Given the description of an element on the screen output the (x, y) to click on. 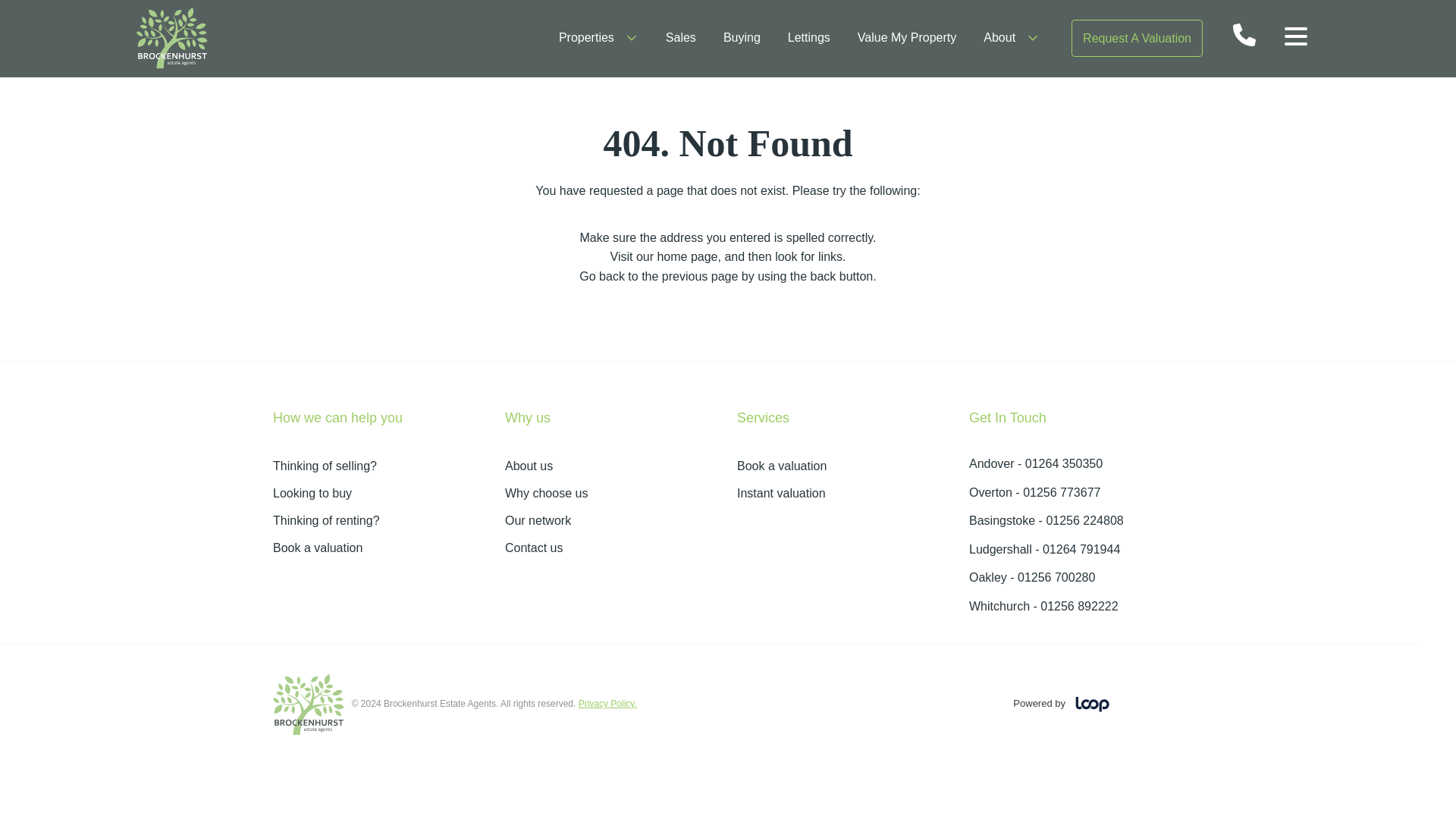
About us (612, 466)
Sales (680, 37)
Instant valuation (843, 493)
Book a valuation (843, 466)
Request A Valuation (1136, 37)
Why choose us (612, 493)
Overton - 01256 773677 (1034, 492)
Ludgershall - 01264 791944 (1044, 549)
Properties (599, 37)
Thinking of selling? (379, 466)
